Given the description of an element on the screen output the (x, y) to click on. 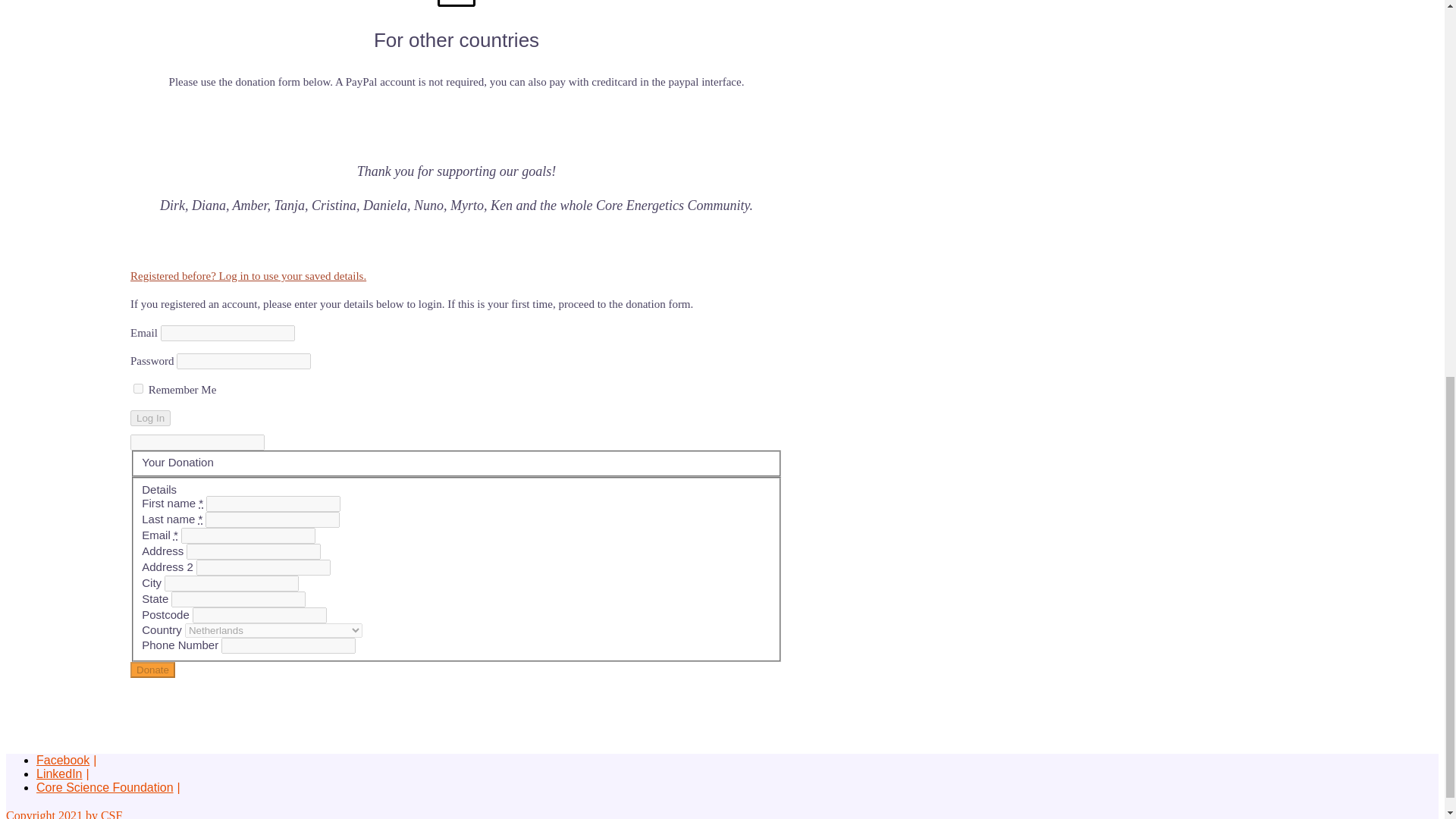
forever (137, 388)
Core Science Foundation (104, 787)
Facebook (62, 759)
Registered before? Log in to use your saved details. (248, 275)
LinkedIn (59, 773)
Log In (150, 417)
Log In (150, 417)
Donate (152, 669)
